Given the description of an element on the screen output the (x, y) to click on. 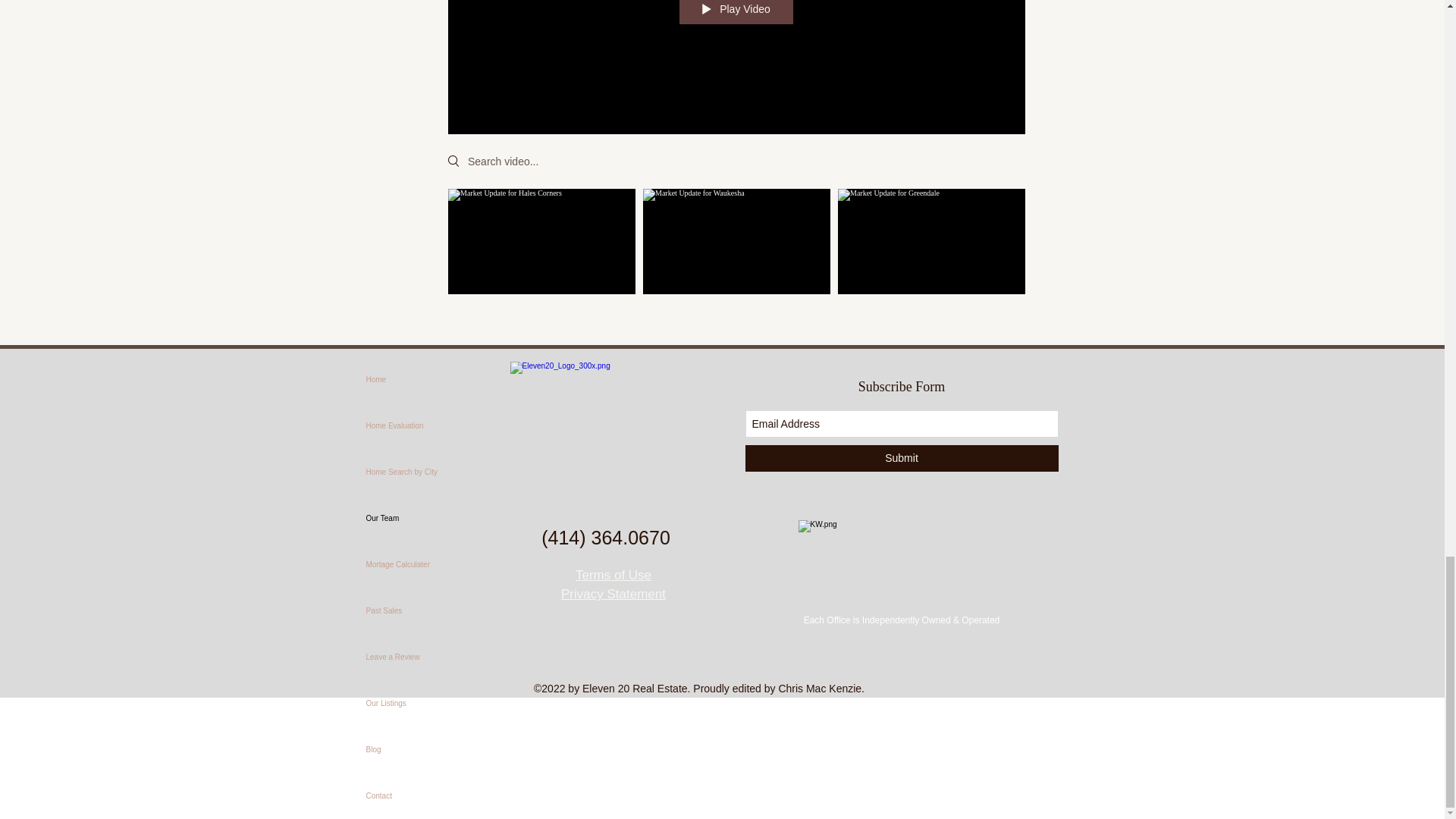
Home (437, 379)
Mortage Calculater (437, 564)
Our Listings (437, 703)
Play Video (736, 12)
Home Evaluation (437, 425)
Past Sales (437, 610)
Blog (437, 749)
Our Team (437, 518)
Leave a Review (437, 656)
Home Search by City (437, 471)
